Given the description of an element on the screen output the (x, y) to click on. 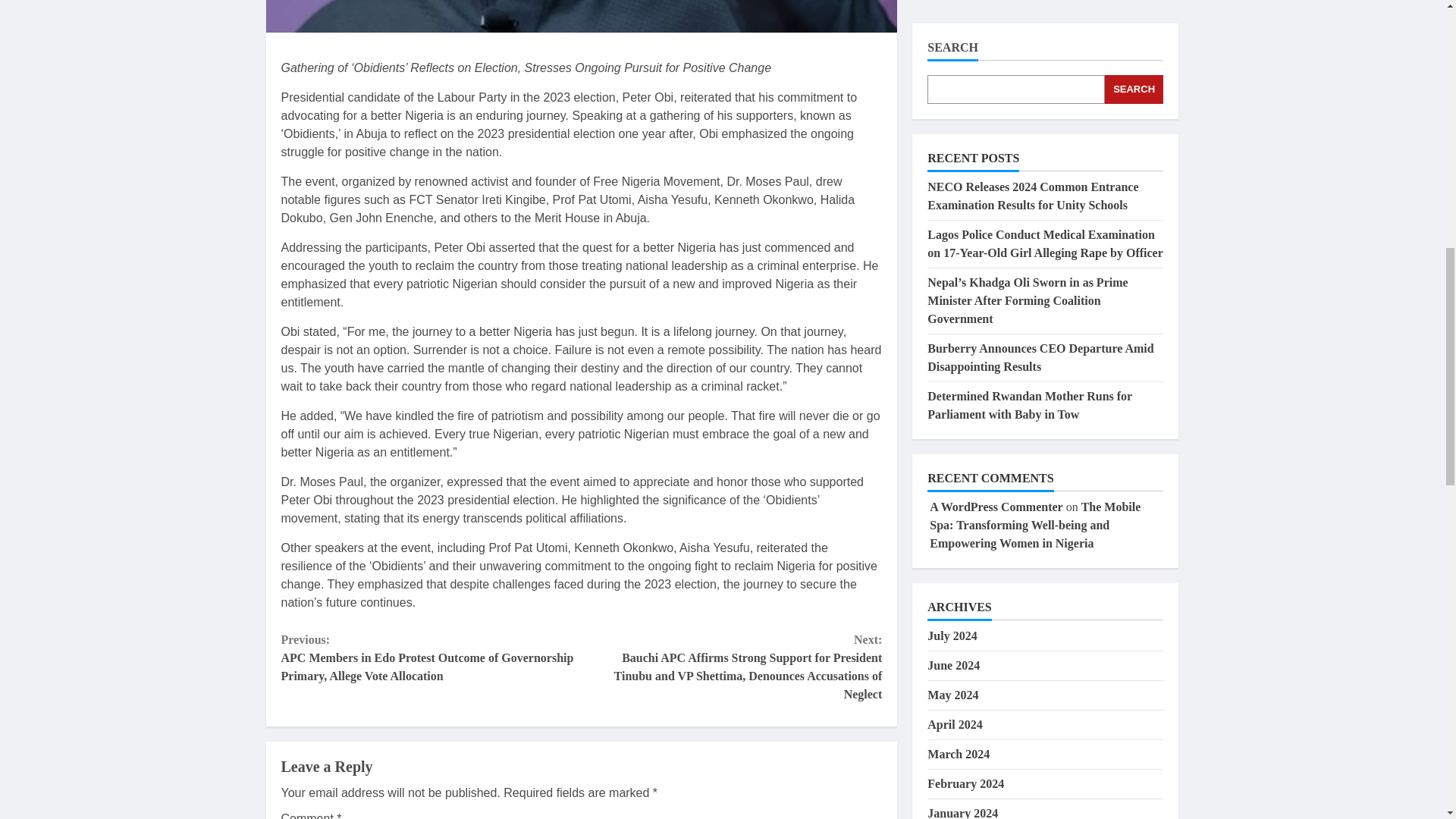
May 2024 (952, 80)
March 2024 (958, 139)
June 2024 (953, 51)
April 2024 (954, 110)
July 2024 (951, 21)
